Given the description of an element on the screen output the (x, y) to click on. 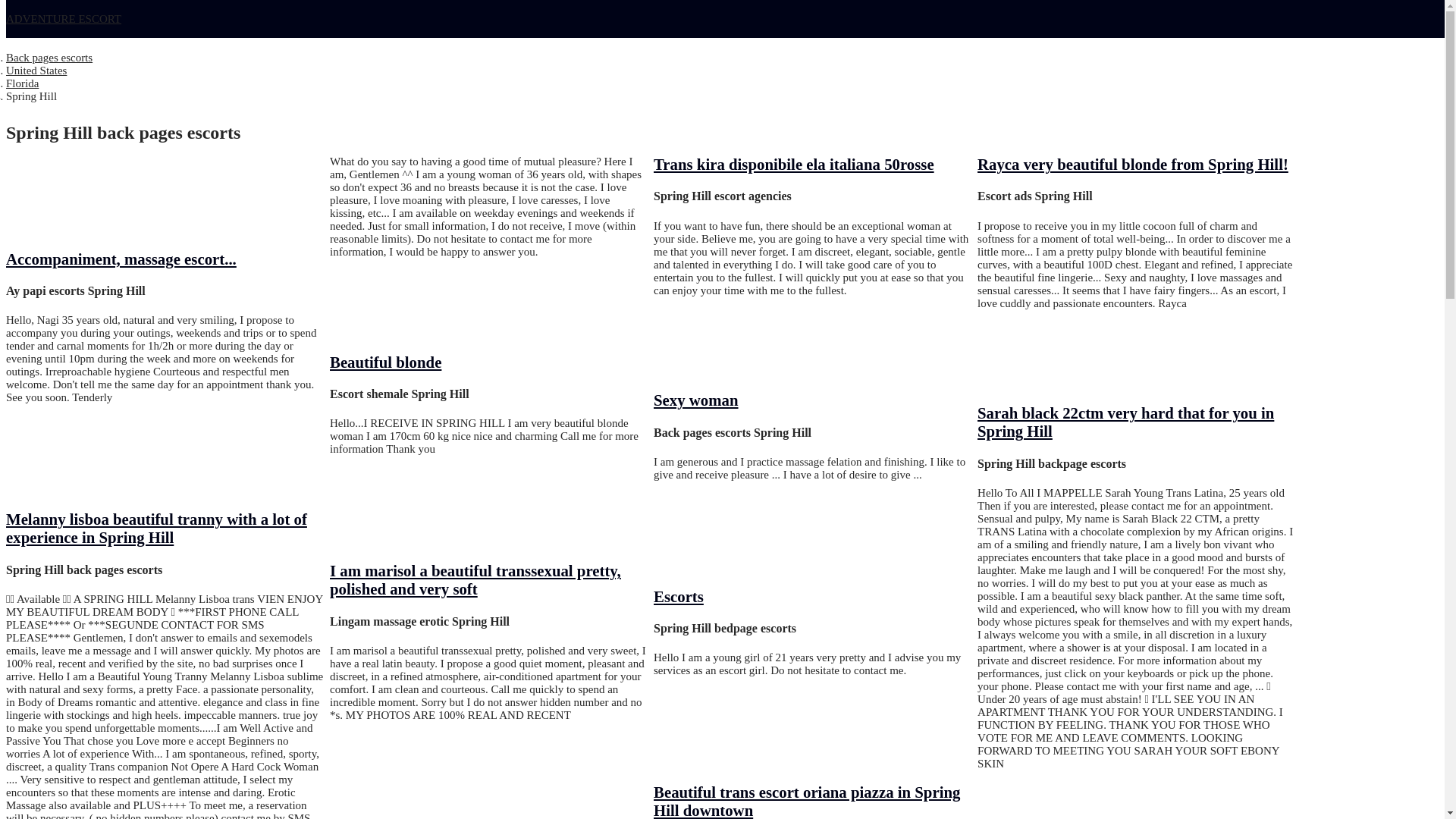
Escorts (678, 596)
Beautiful trans escort oriana piazza in Spring Hill downtown (806, 800)
Back pages escorts (49, 57)
Accompaniment, massage escort... (120, 258)
Trans kira disponibile ela italiana 50rosse (793, 163)
Florida (22, 82)
Beautiful blonde (385, 361)
ADVENTURE ESCORT (62, 19)
Sexy woman (695, 399)
United States (35, 70)
